Given the description of an element on the screen output the (x, y) to click on. 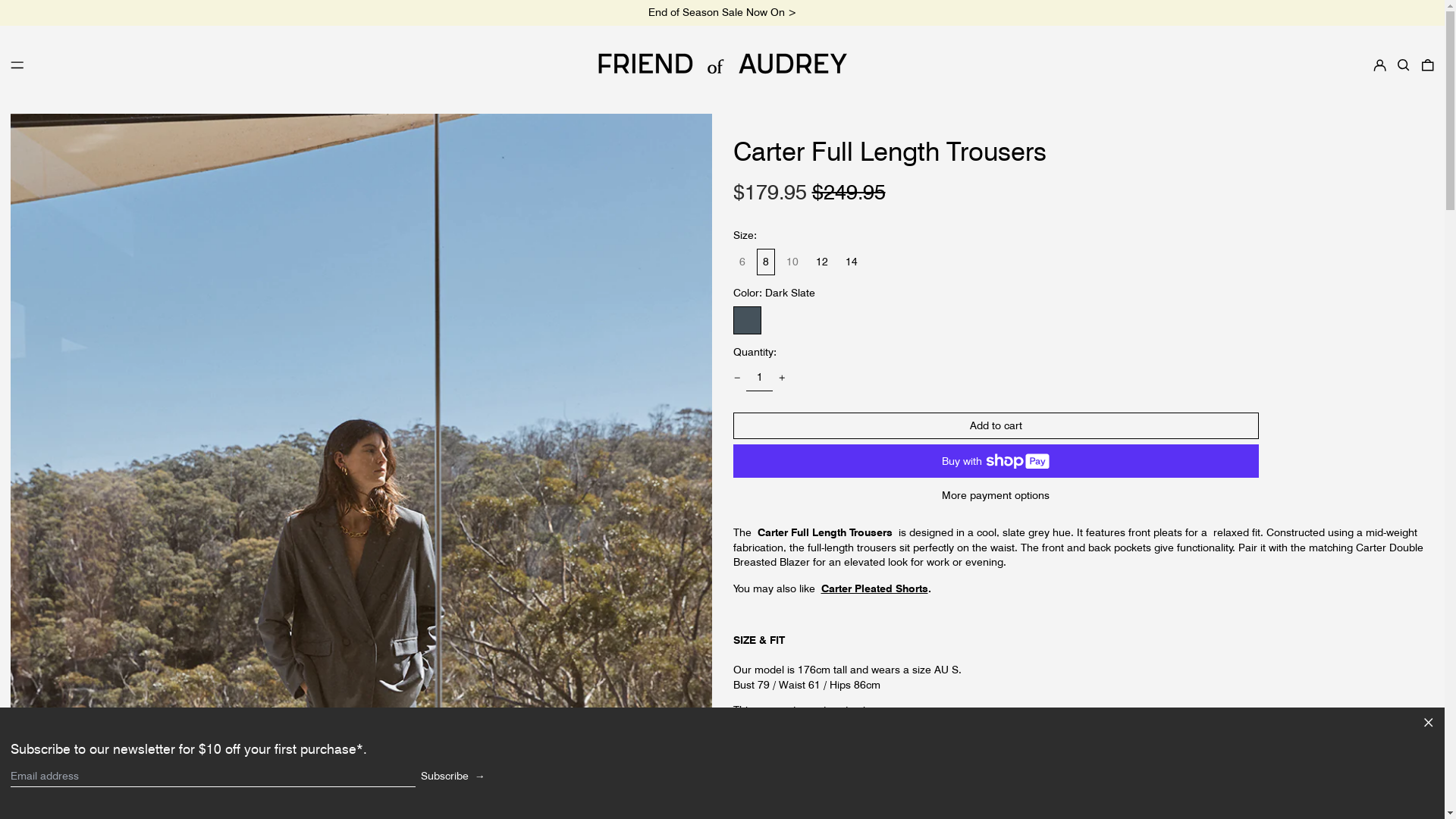
Close Element type: text (1428, 723)
0 items Element type: text (1427, 64)
Carter Pleated Shorts Element type: text (873, 587)
Menu Element type: text (17, 64)
Log in Element type: text (1379, 64)
More payment options Element type: text (995, 495)
Search Element type: text (1403, 64)
End of Season Sale Now On > Element type: text (721, 11)
Add to cart Element type: text (995, 425)
